Given the description of an element on the screen output the (x, y) to click on. 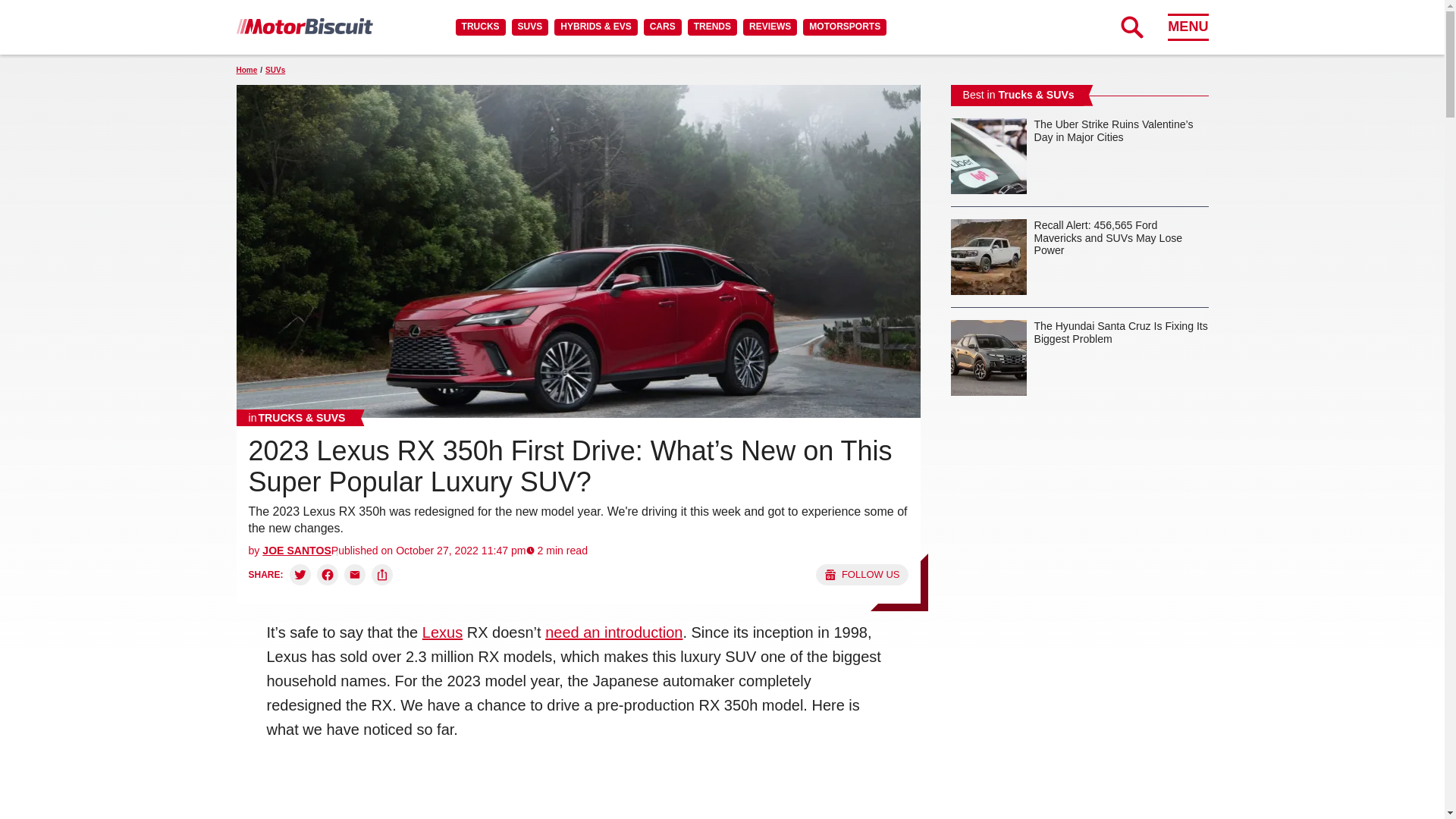
REVIEWS (769, 26)
TRENDS (711, 26)
MENU (1187, 26)
CARS (662, 26)
Copy link and share:  (382, 574)
TRUCKS (480, 26)
Follow us on Google News (861, 574)
Expand Search (1131, 26)
SUVS (530, 26)
MOTORSPORTS (844, 26)
MotorBiscuit (303, 26)
